Given the description of an element on the screen output the (x, y) to click on. 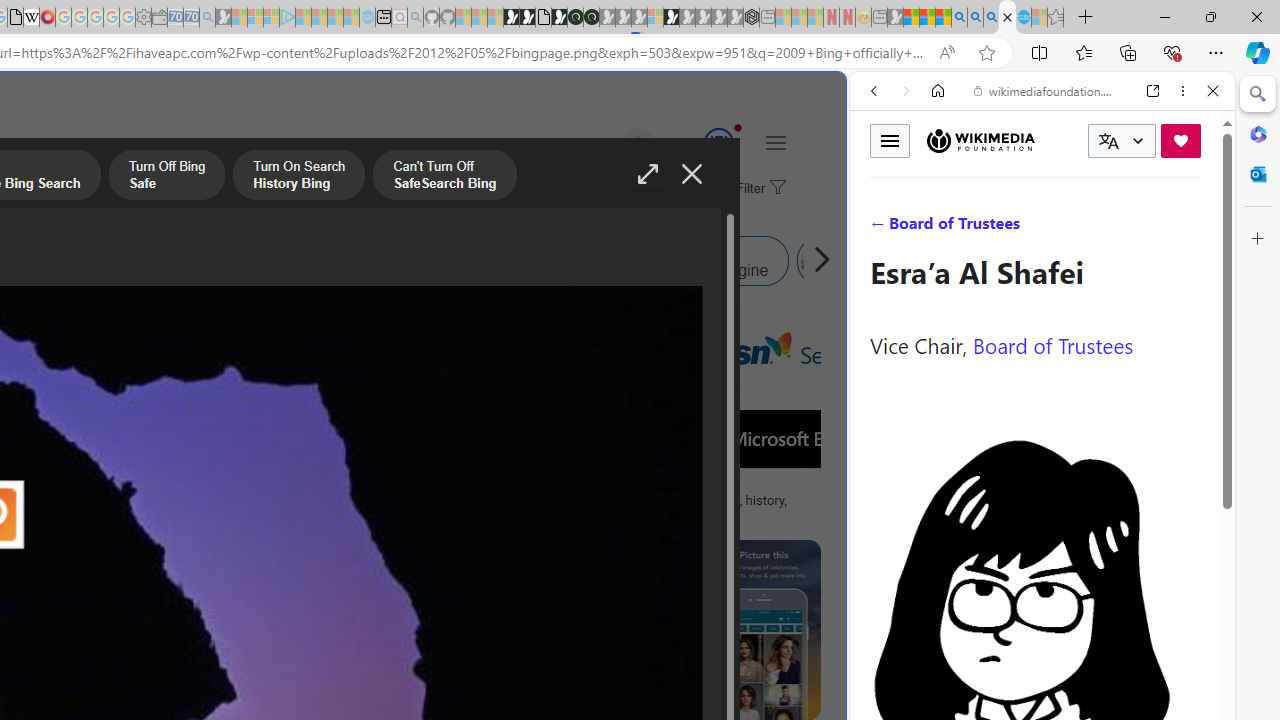
AutomationID: rh_meter (718, 142)
SEARCH TOOLS (1093, 228)
Microsoft Rewards 84 (700, 143)
Class: i icon icon-translate language-switcher__icon (1108, 141)
Class: item col (890, 260)
Play Cave FRVR in your browser | Games from Microsoft Start (343, 426)
Scroll right (816, 260)
Future Focus Report 2024 (591, 17)
